Given the description of an element on the screen output the (x, y) to click on. 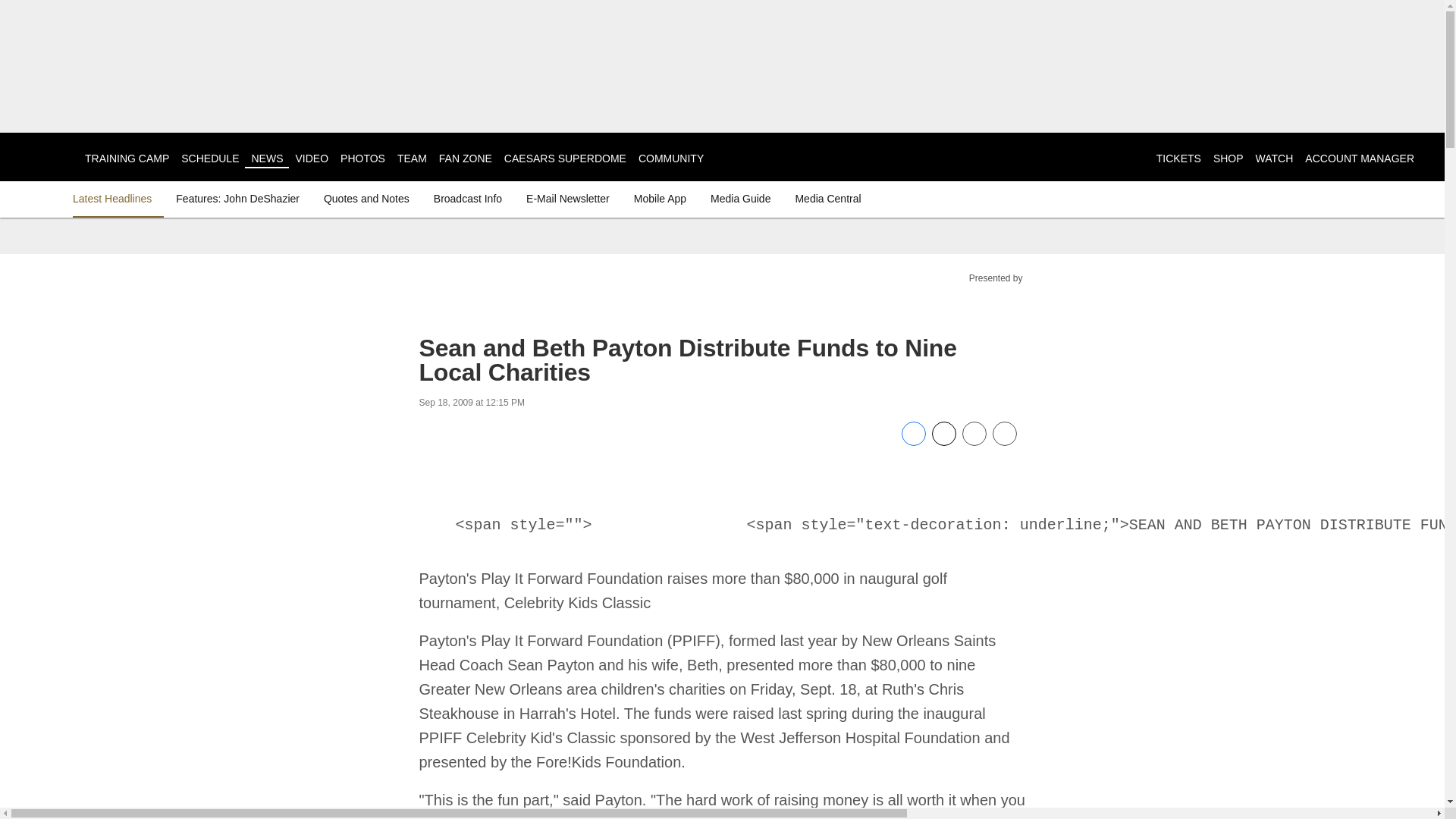
COMMUNITY (671, 158)
Mobile App (660, 198)
PHOTOS (362, 158)
TRAINING CAMP (126, 158)
TICKETS (1178, 158)
Features: John DeShazier (237, 198)
VIDEO (312, 158)
FAN ZONE (465, 158)
CAESARS SUPERDOME (564, 158)
FAN ZONE (465, 158)
